Given the description of an element on the screen output the (x, y) to click on. 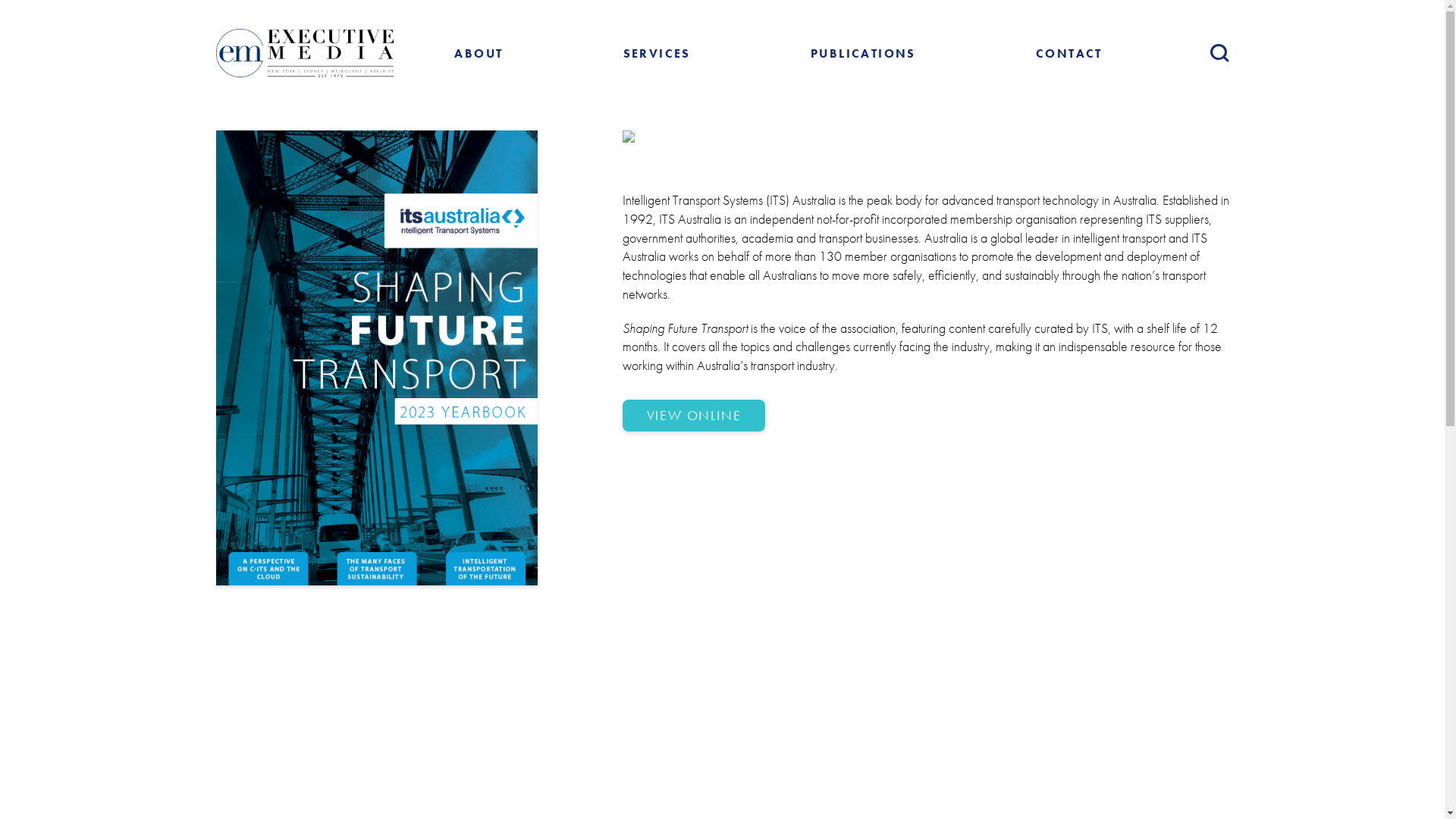
CONTACT Element type: text (1068, 53)
ABOUT Element type: text (478, 53)
SERVICES Element type: text (656, 53)
VIEW ONLINE Element type: text (693, 415)
PUBLICATIONS Element type: text (863, 53)
